Given the description of an element on the screen output the (x, y) to click on. 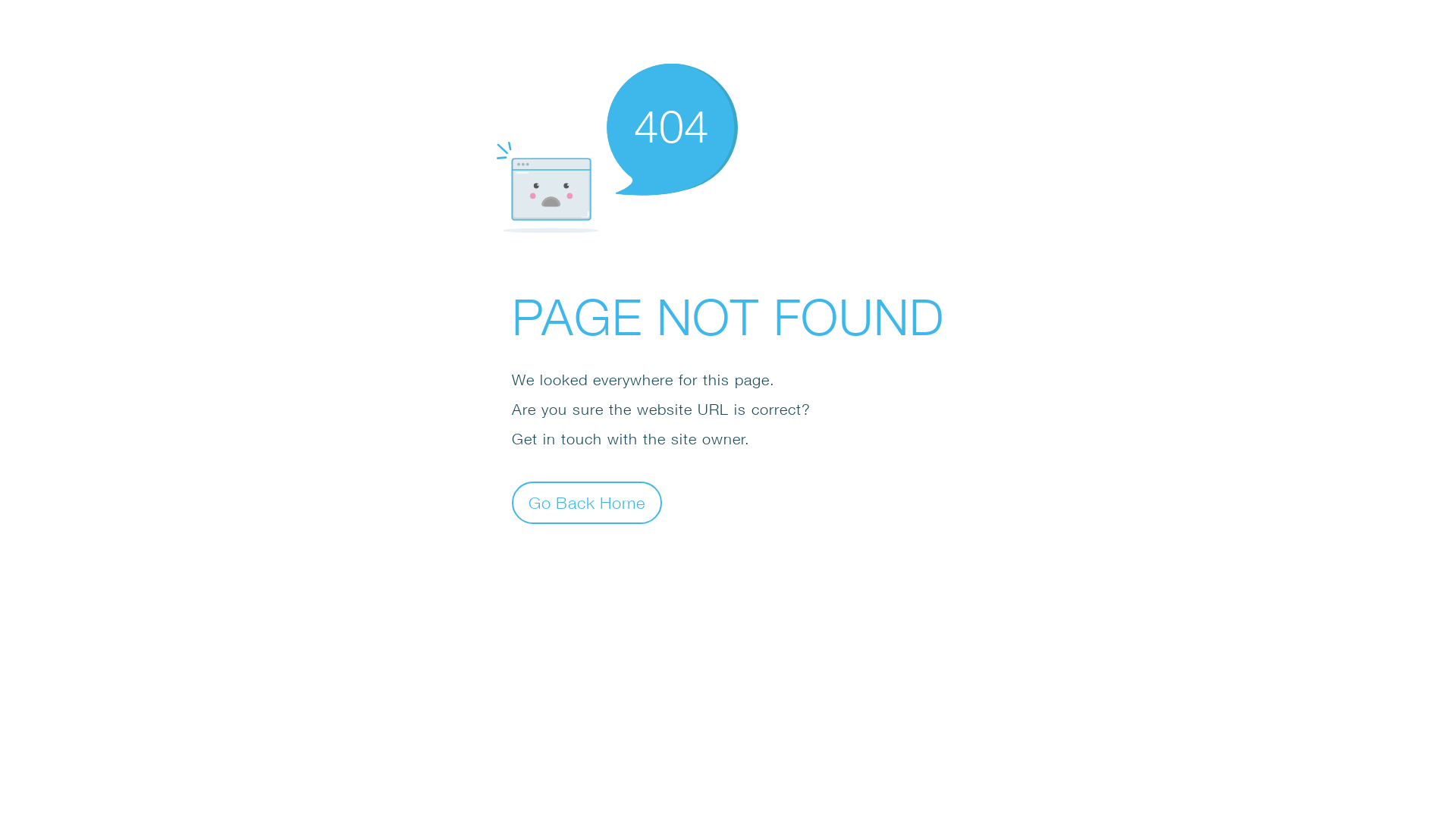
Go Back Home Element type: text (586, 502)
